Given the description of an element on the screen output the (x, y) to click on. 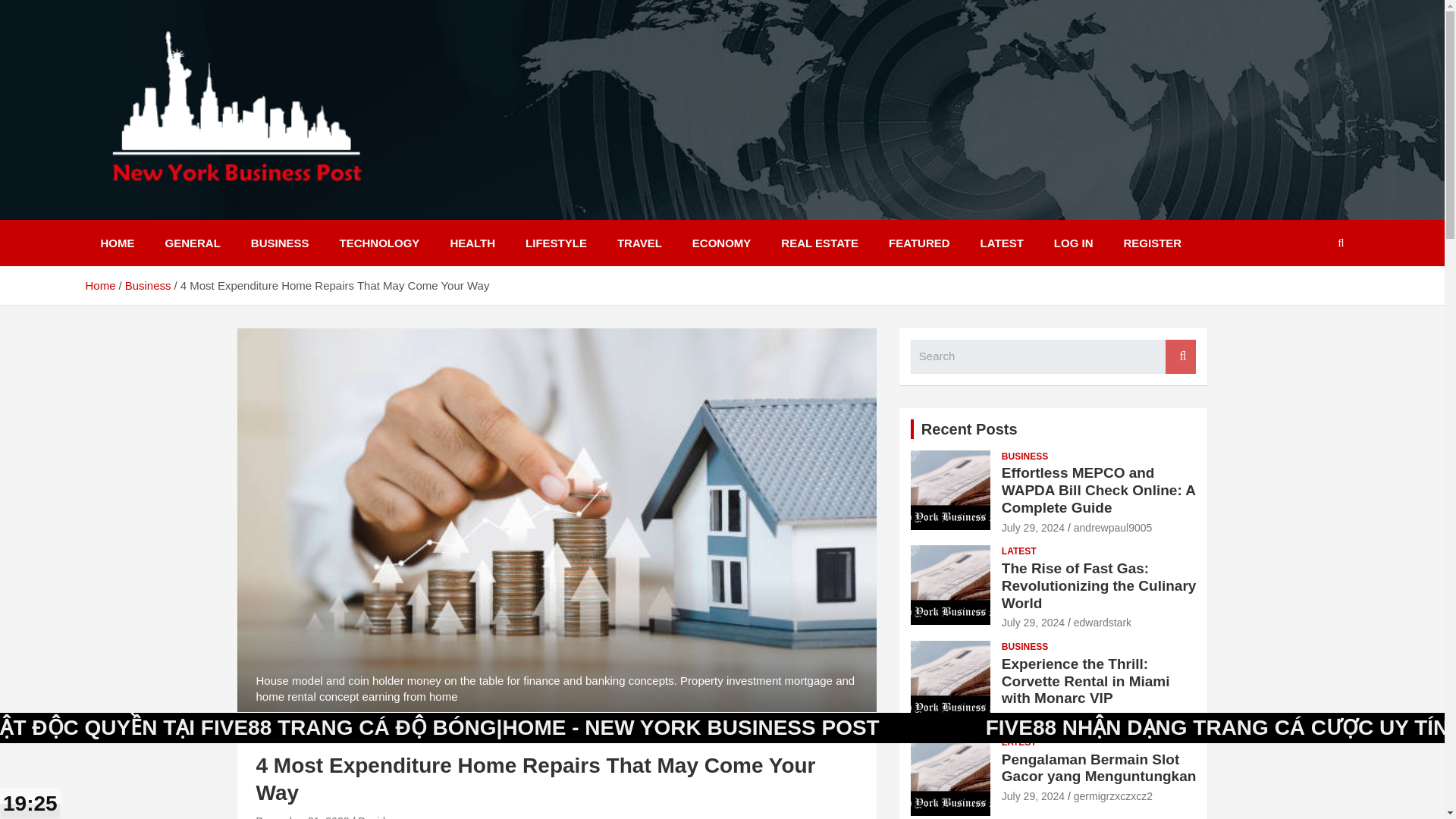
LATEST (1018, 551)
TECHNOLOGY (379, 243)
REAL ESTATE (819, 243)
July 29, 2024 (1032, 622)
HOME (116, 243)
Pengalaman Bermain Slot Gacor yang Menguntungkan (1032, 796)
December 21, 2023 (302, 816)
FEATURED (919, 243)
edwardstark (1102, 622)
July 29, 2024 (1032, 527)
BUSINESS (279, 243)
Business (148, 285)
David (371, 816)
